Given the description of an element on the screen output the (x, y) to click on. 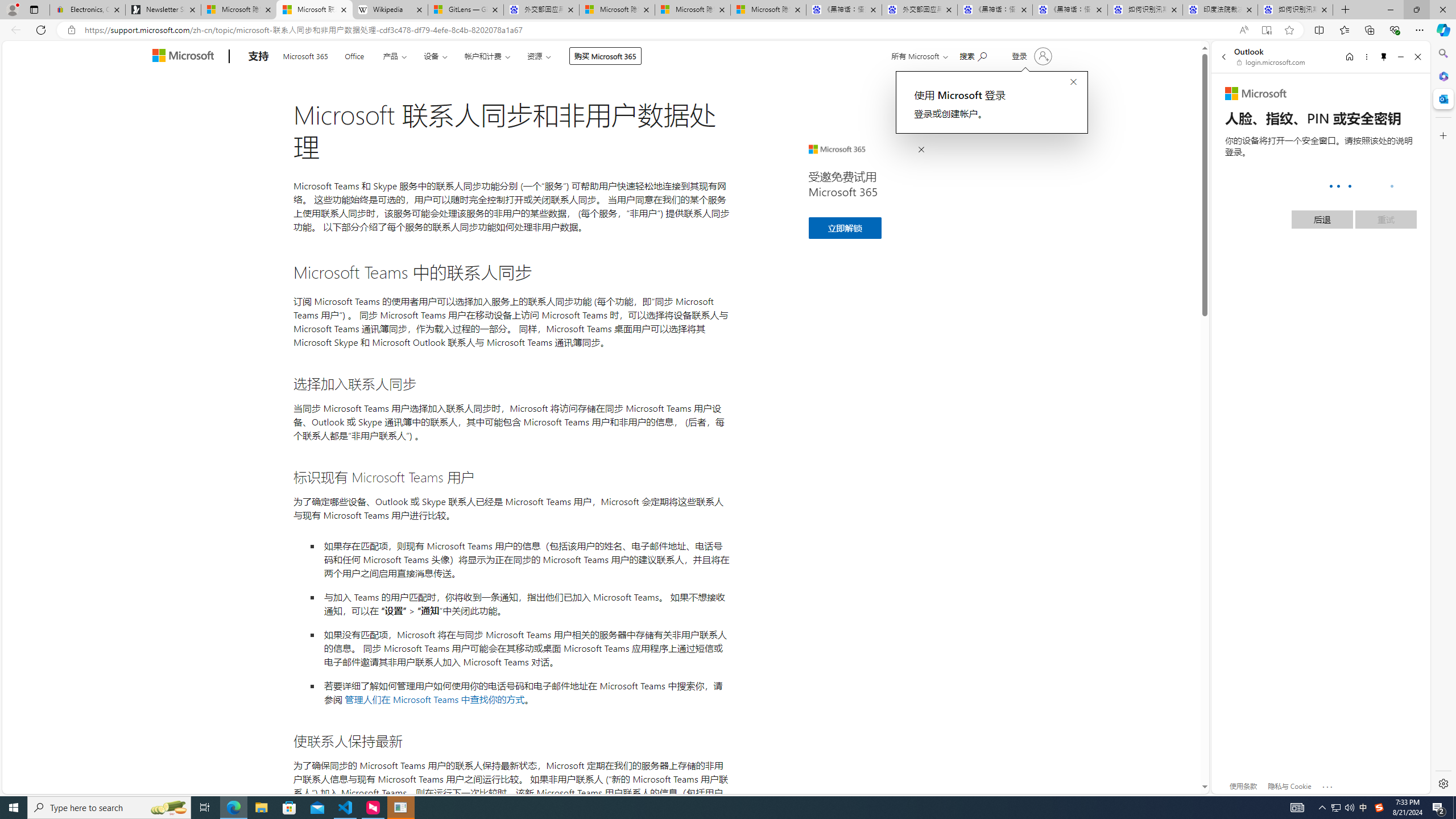
Microsoft (1255, 93)
Enter Immersive Reader (F9) (1266, 29)
login.microsoft.com (1271, 61)
